Given the description of an element on the screen output the (x, y) to click on. 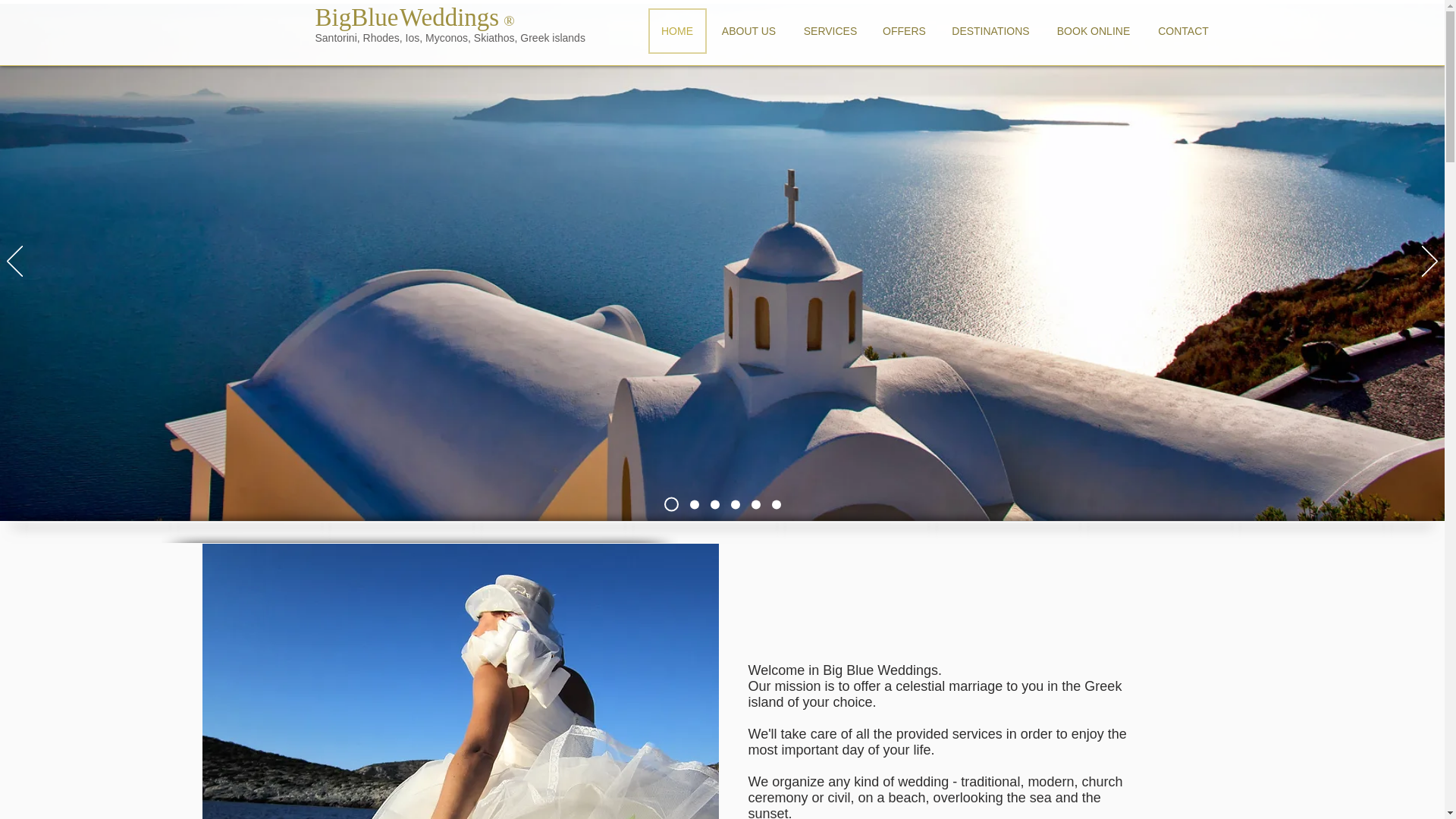
OFFERS (903, 31)
DESTINATIONS (990, 31)
ABOUT US (748, 31)
HOME (676, 31)
SERVICES (830, 31)
